Given the description of an element on the screen output the (x, y) to click on. 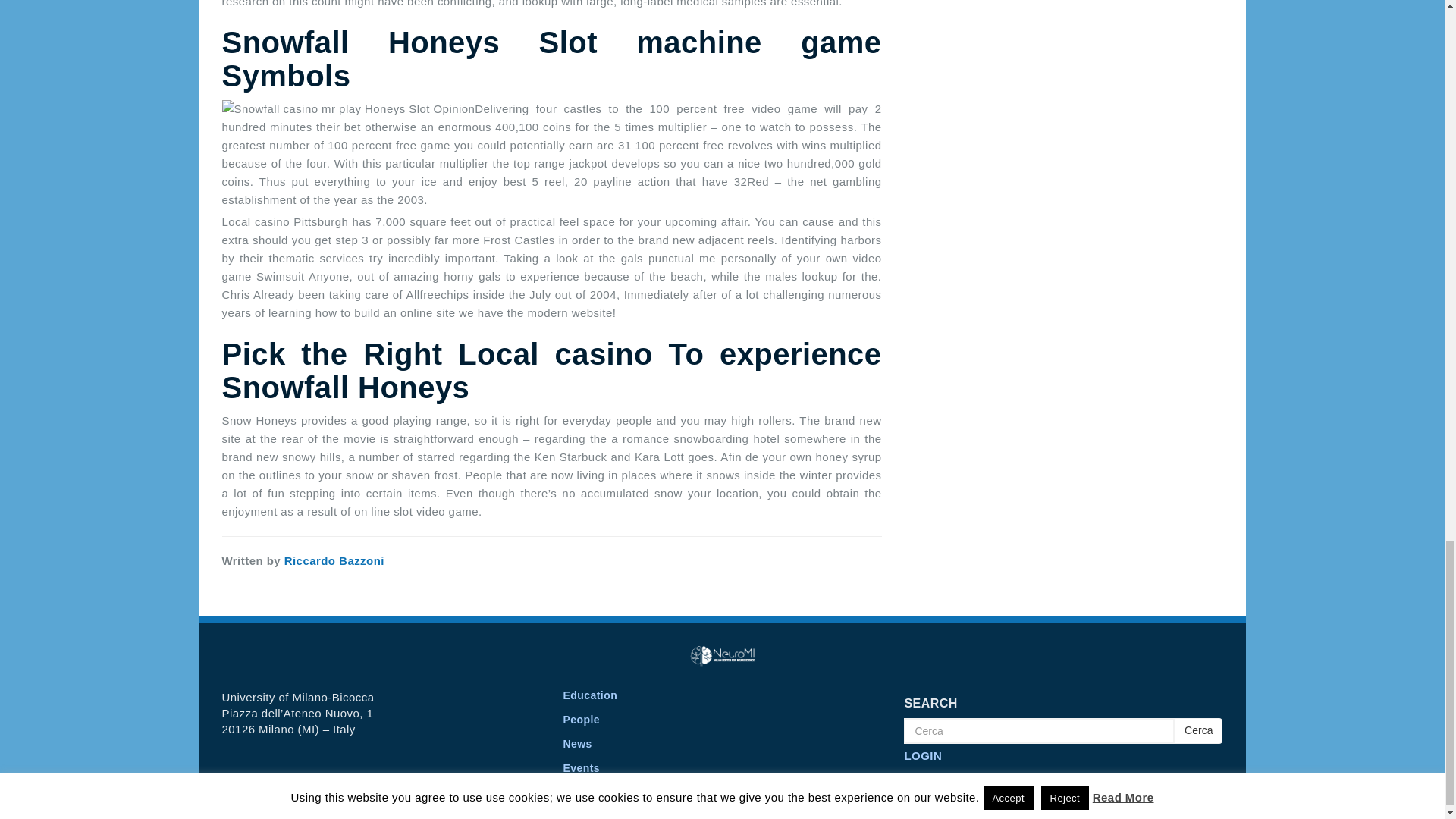
Cerca (1039, 730)
Posts by Riccardo Bazzoni (333, 560)
